Given the description of an element on the screen output the (x, y) to click on. 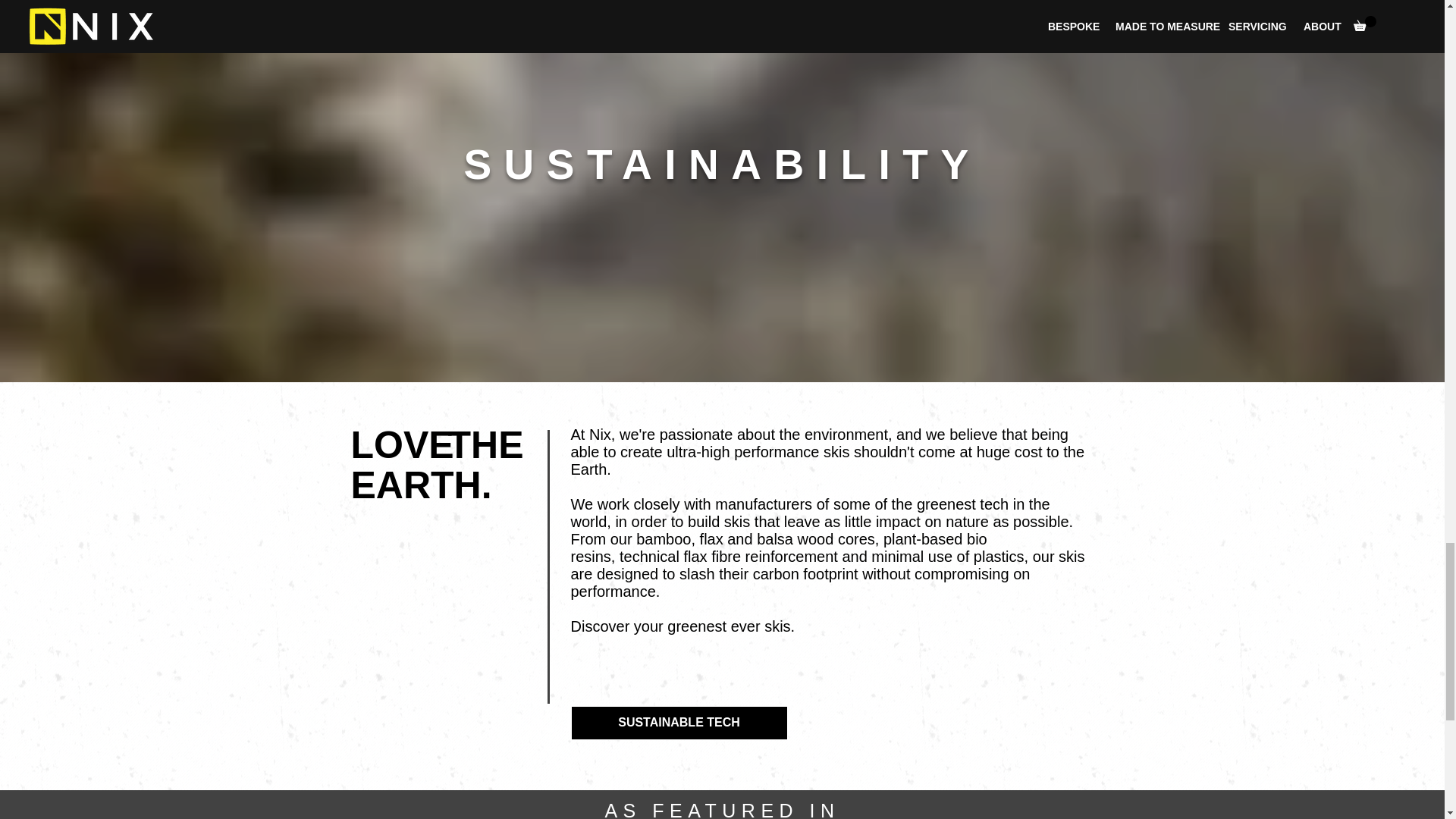
SUSTAINABLE TECH (678, 722)
AS FEATURED IN (722, 809)
SUSTAINABILITY (721, 164)
